Given the description of an element on the screen output the (x, y) to click on. 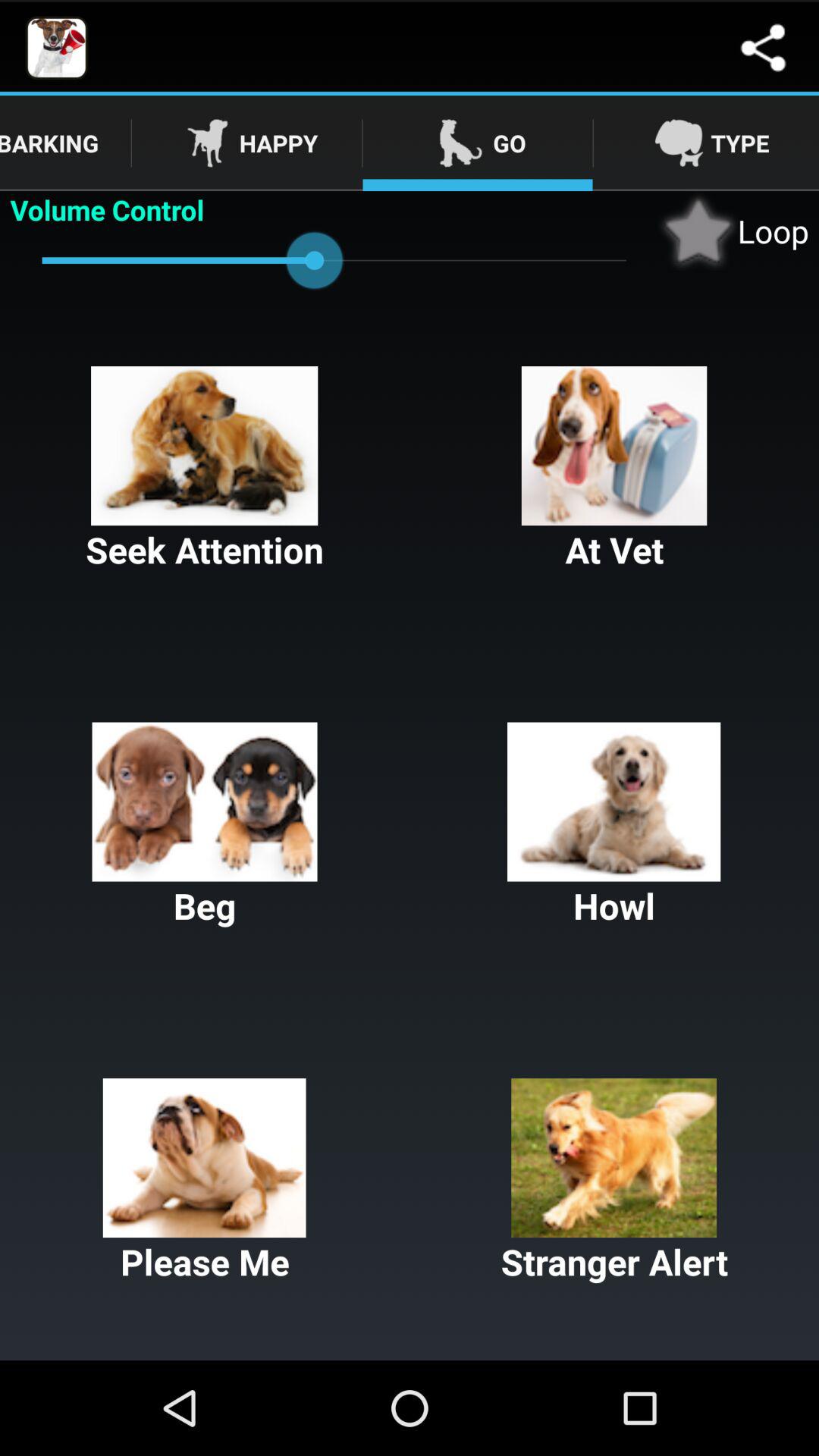
select item next to volume control (733, 230)
